Given the description of an element on the screen output the (x, y) to click on. 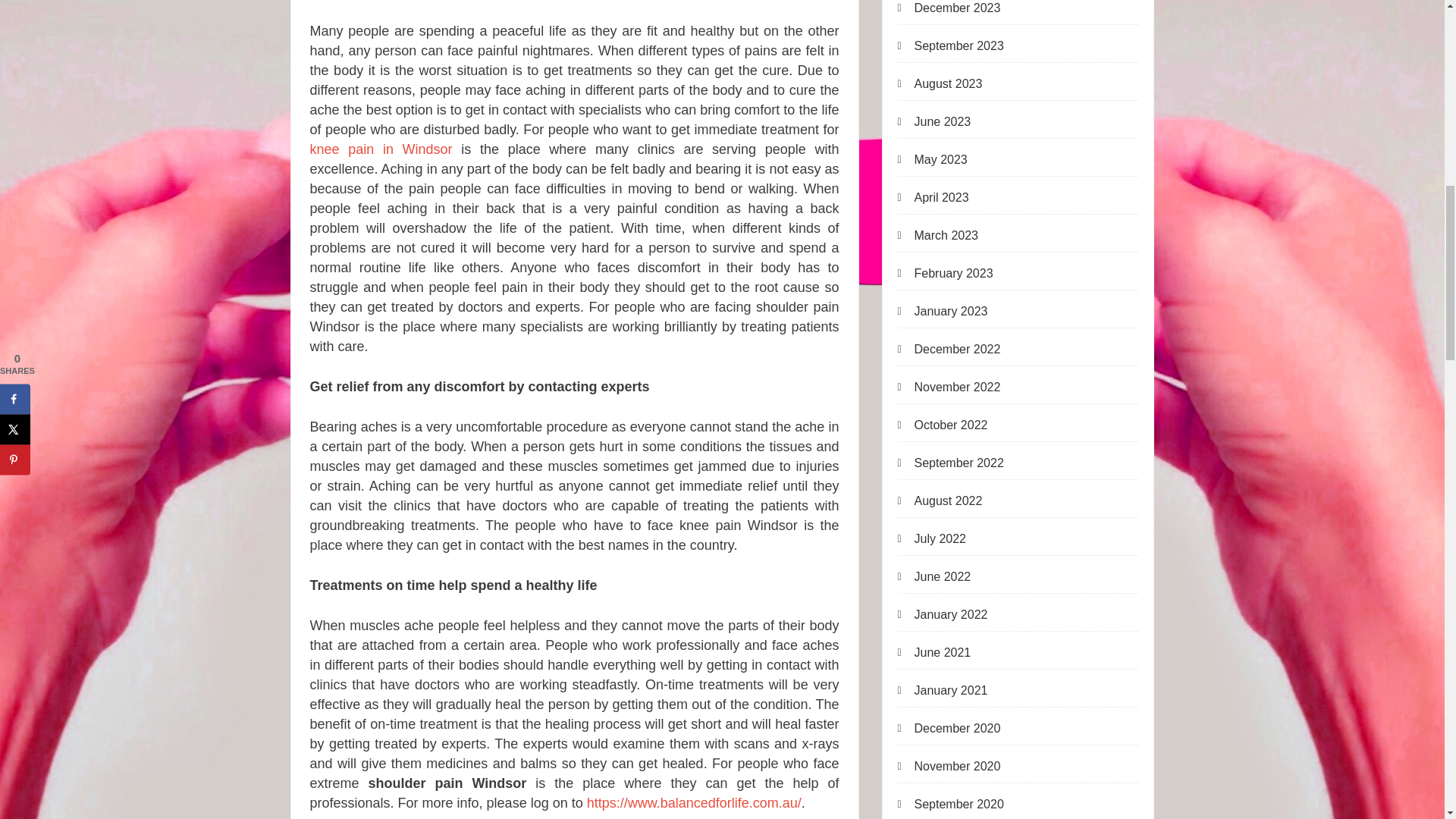
May 2023 (933, 159)
March 2023 (938, 235)
December 2022 (949, 349)
August 2023 (940, 84)
February 2023 (945, 273)
knee pain in Windsor (379, 149)
June 2023 (934, 121)
December 2023 (949, 10)
January 2023 (943, 311)
September 2023 (951, 46)
